Given the description of an element on the screen output the (x, y) to click on. 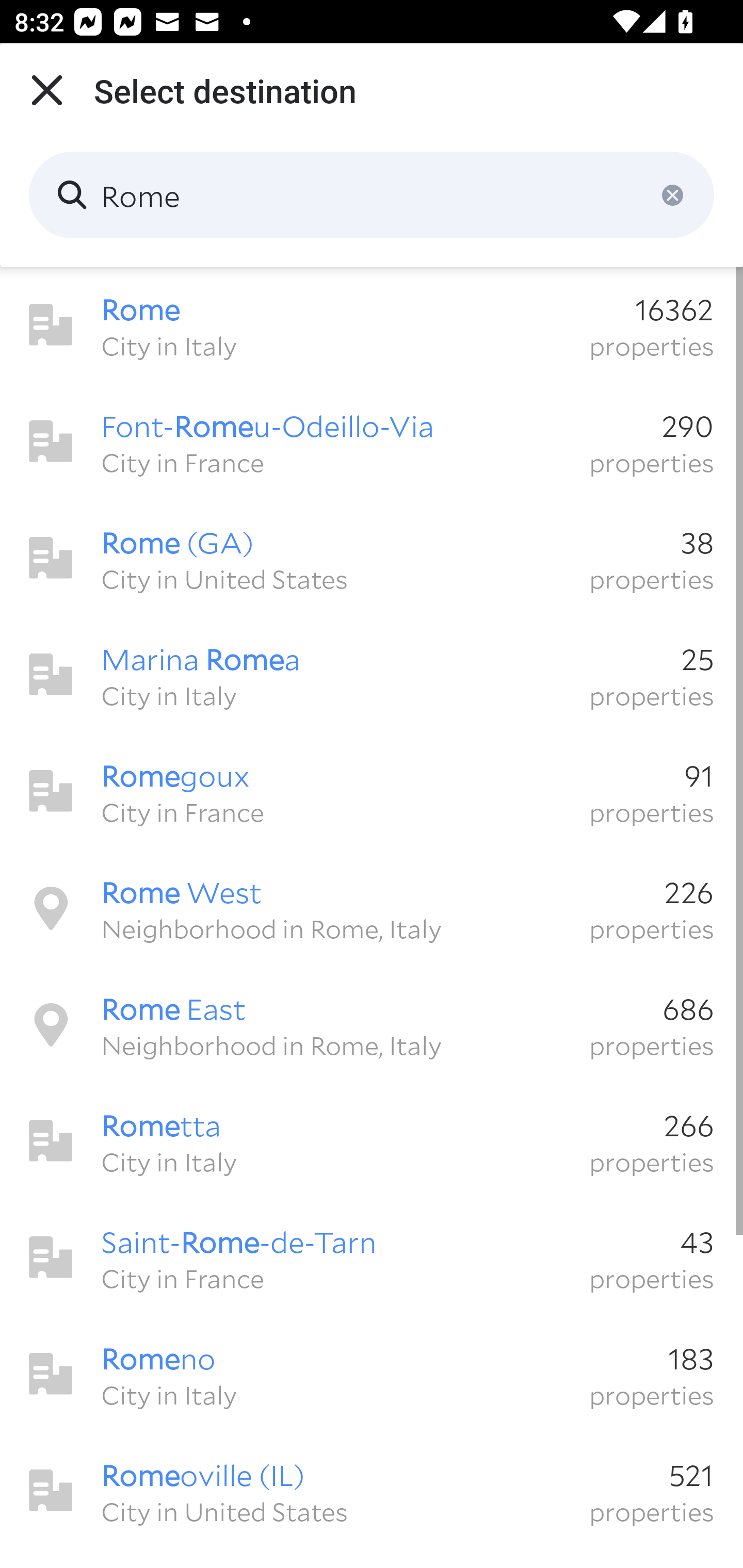
Rome (371, 195)
Rome 16362 City in Italy properties (371, 325)
Rome (GA) 38 City in United States properties (371, 558)
Marina Romea 25 City in Italy properties (371, 674)
Romegoux 91 City in France properties (371, 791)
Rometta 266 City in Italy properties (371, 1141)
Saint-Rome-de-Tarn 43 City in France properties (371, 1257)
Romeno 183 City in Italy properties (371, 1374)
